Given the description of an element on the screen output the (x, y) to click on. 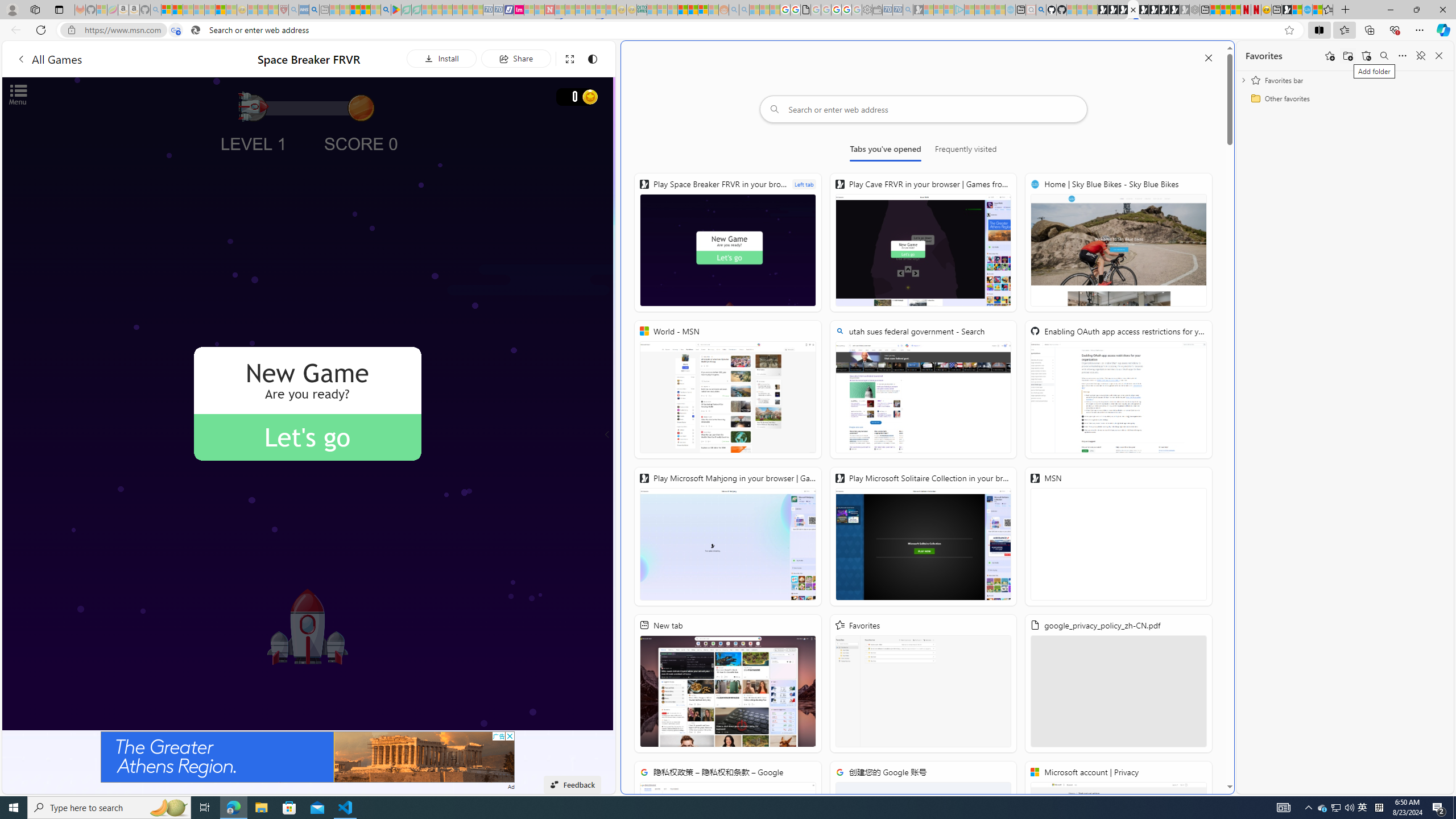
Advertisement (307, 756)
Frequently visited (965, 151)
Restore deleted favorites (1366, 55)
